Given the description of an element on the screen output the (x, y) to click on. 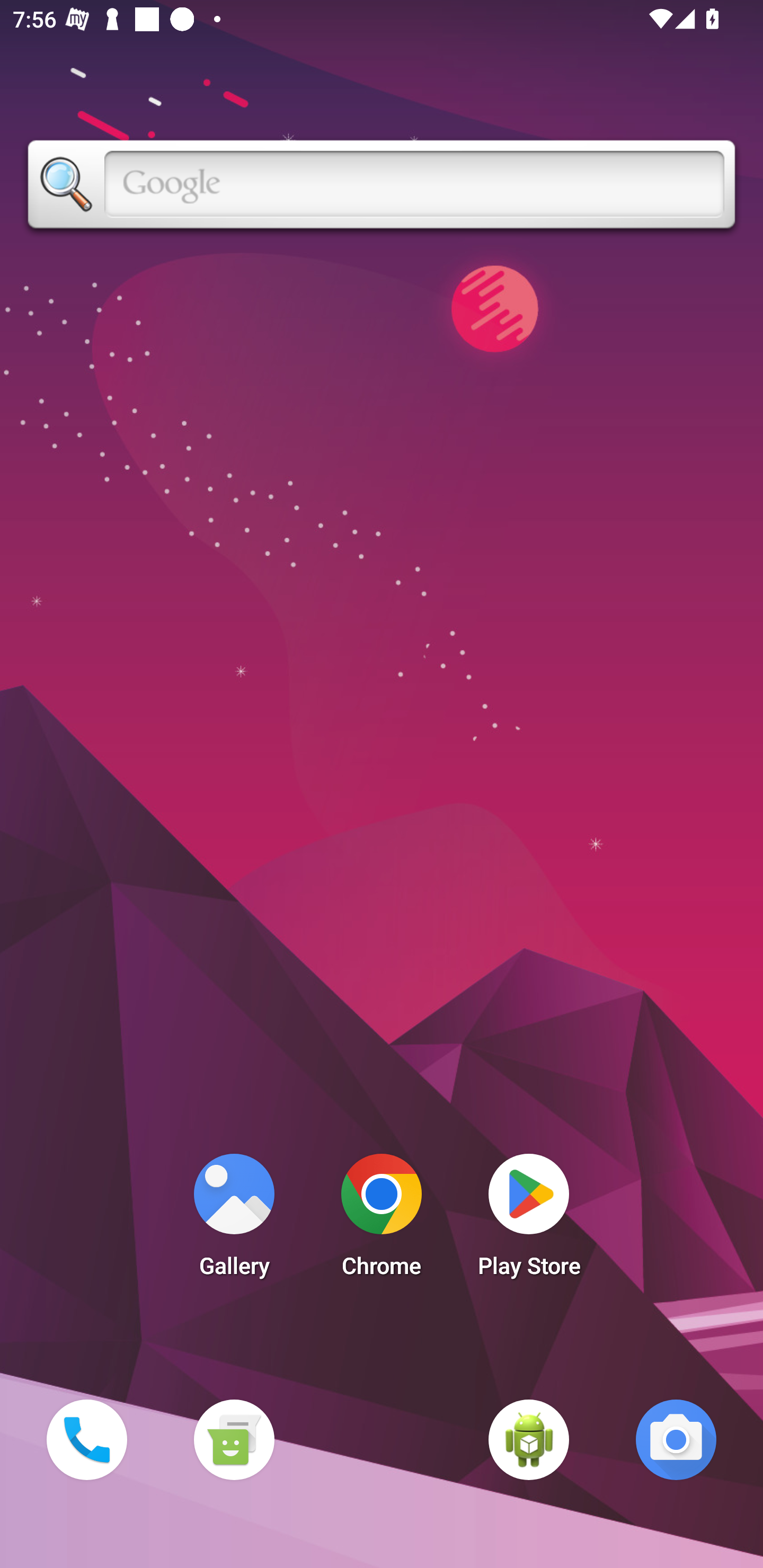
Gallery (233, 1220)
Chrome (381, 1220)
Play Store (528, 1220)
Phone (86, 1439)
Messaging (233, 1439)
WebView Browser Tester (528, 1439)
Camera (676, 1439)
